Given the description of an element on the screen output the (x, y) to click on. 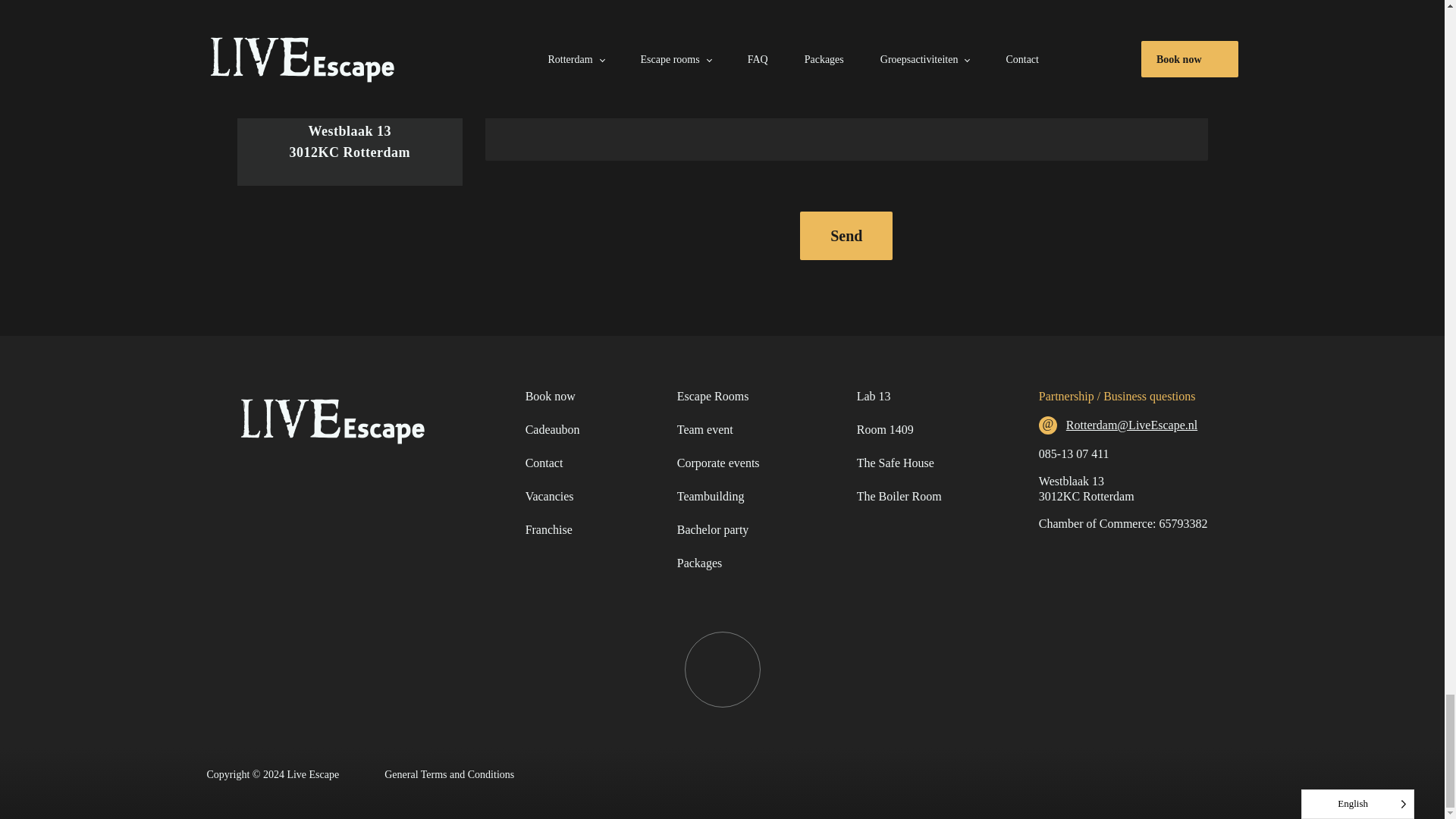
Cadeaubon (552, 429)
Book now (550, 396)
Send (845, 235)
Contact (544, 462)
Send (845, 235)
